Given the description of an element on the screen output the (x, y) to click on. 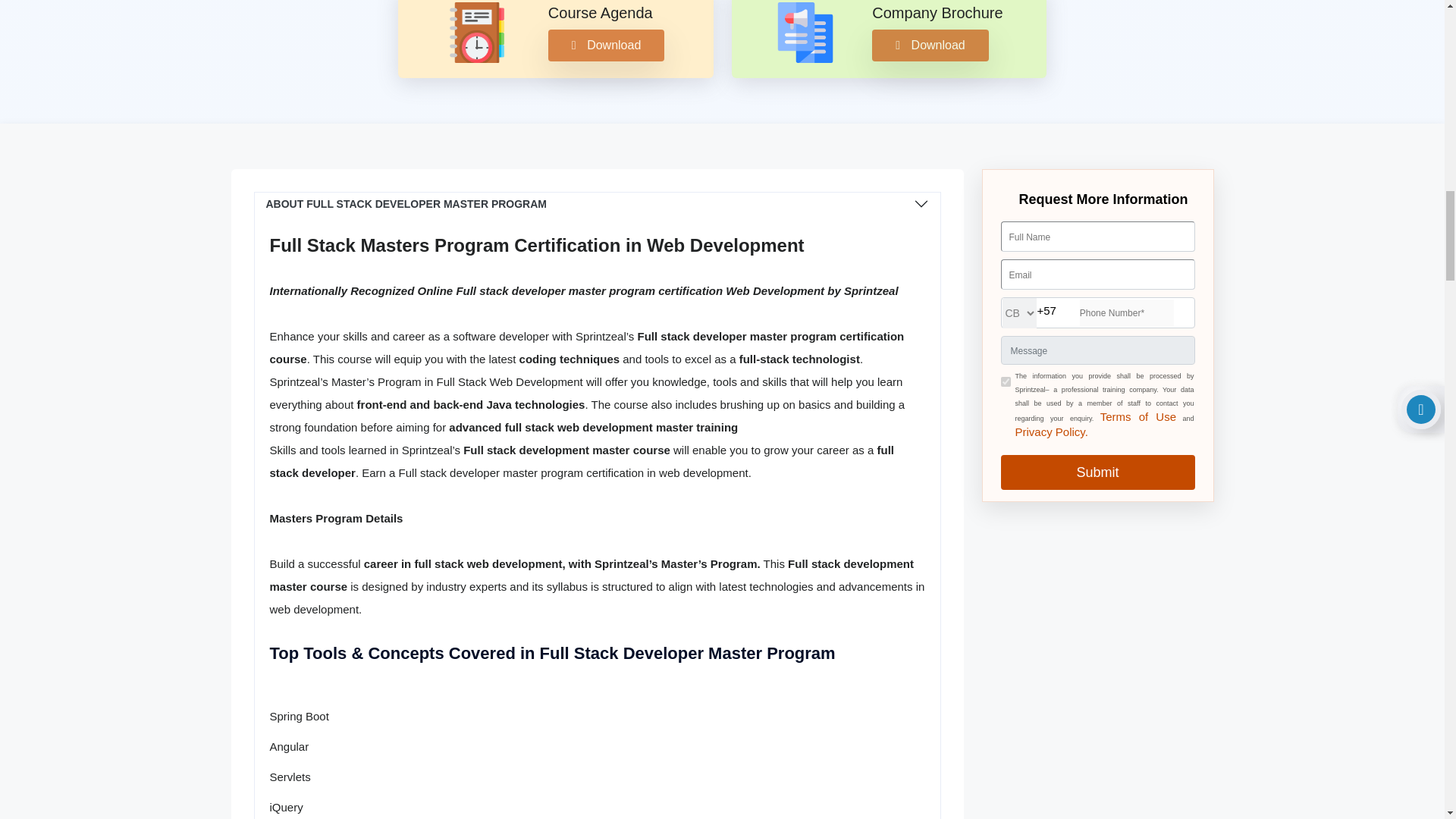
on (1005, 381)
Click Here (1138, 416)
Click Here (1050, 431)
